Given the description of an element on the screen output the (x, y) to click on. 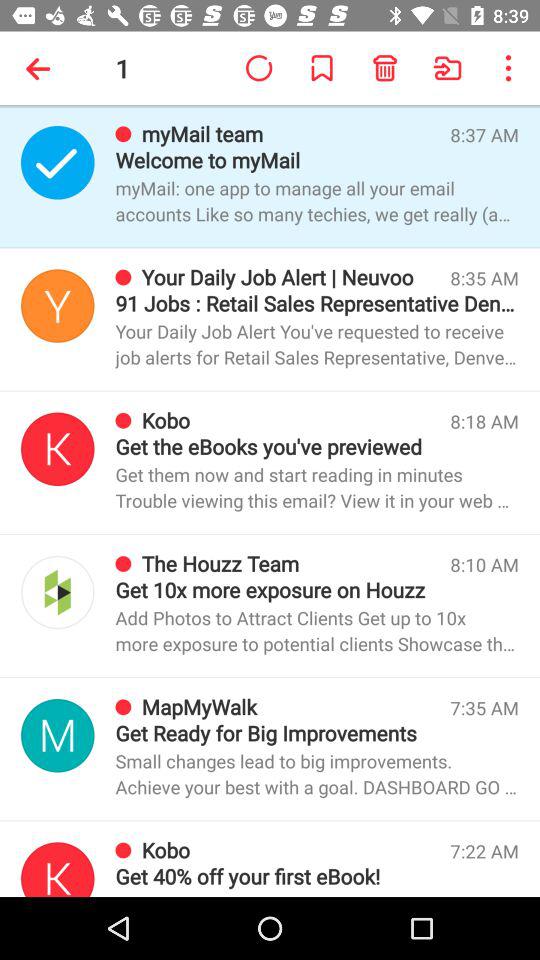
display name logo profile info button (57, 735)
